Given the description of an element on the screen output the (x, y) to click on. 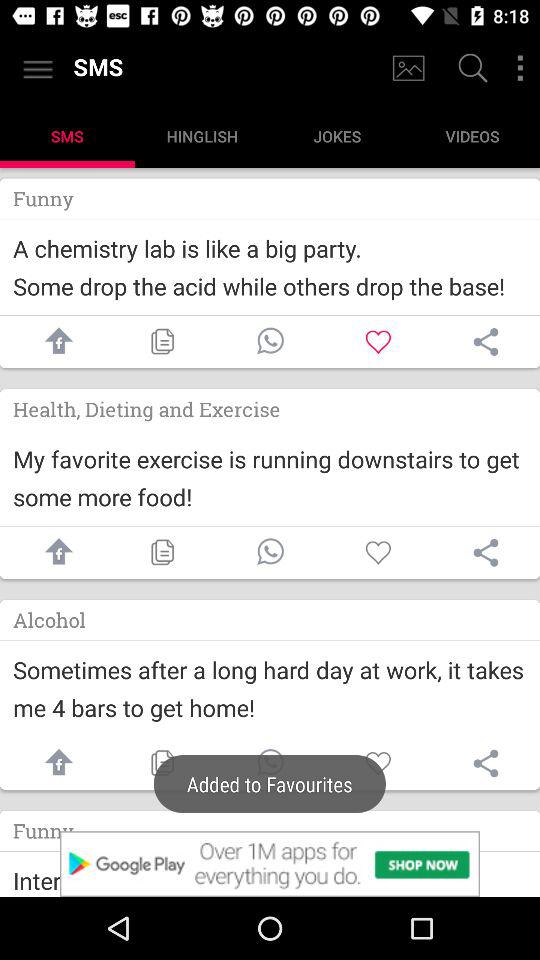
select favorite button (378, 763)
